Given the description of an element on the screen output the (x, y) to click on. 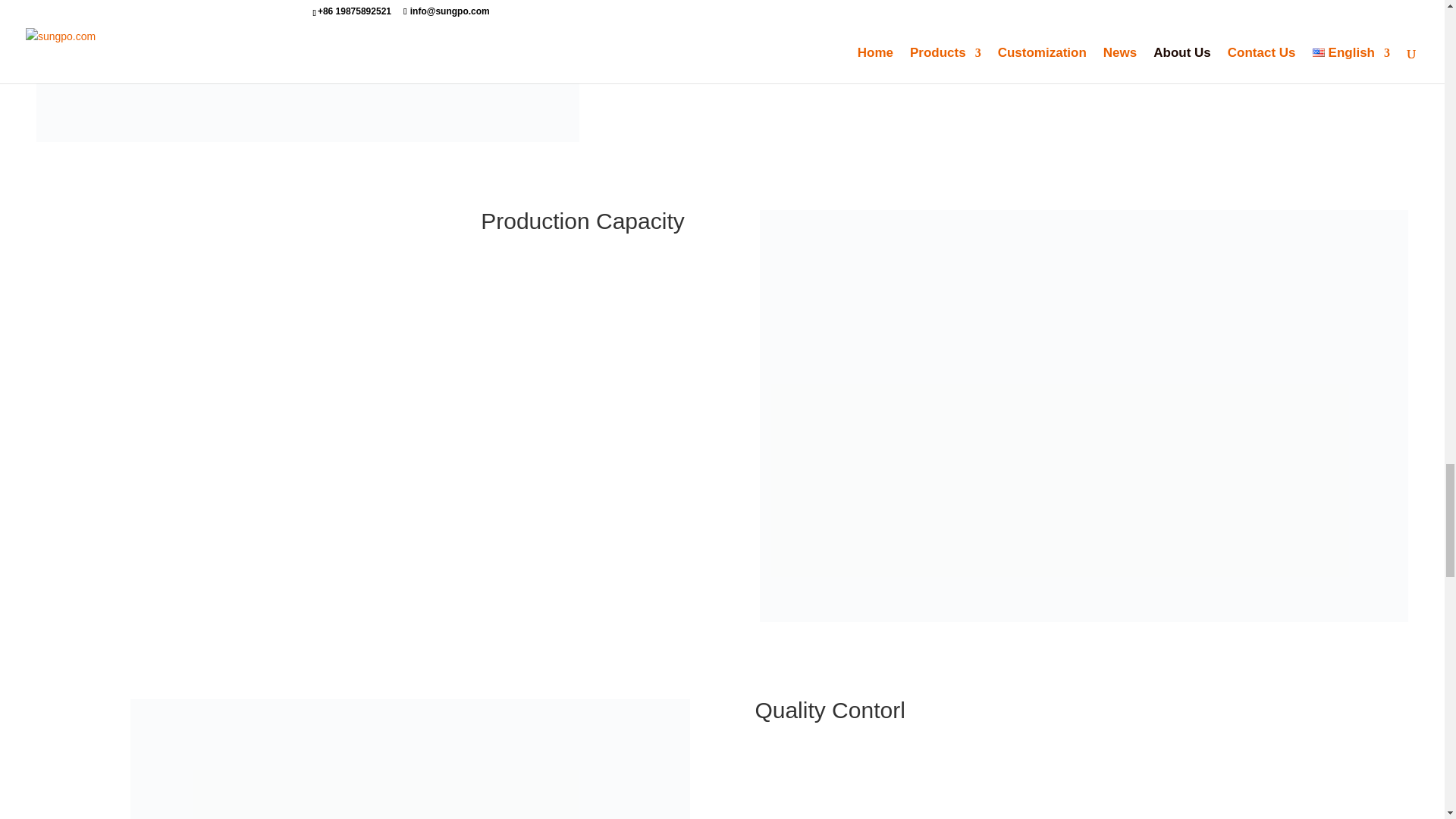
15748560551972 (307, 70)
